Given the description of an element on the screen output the (x, y) to click on. 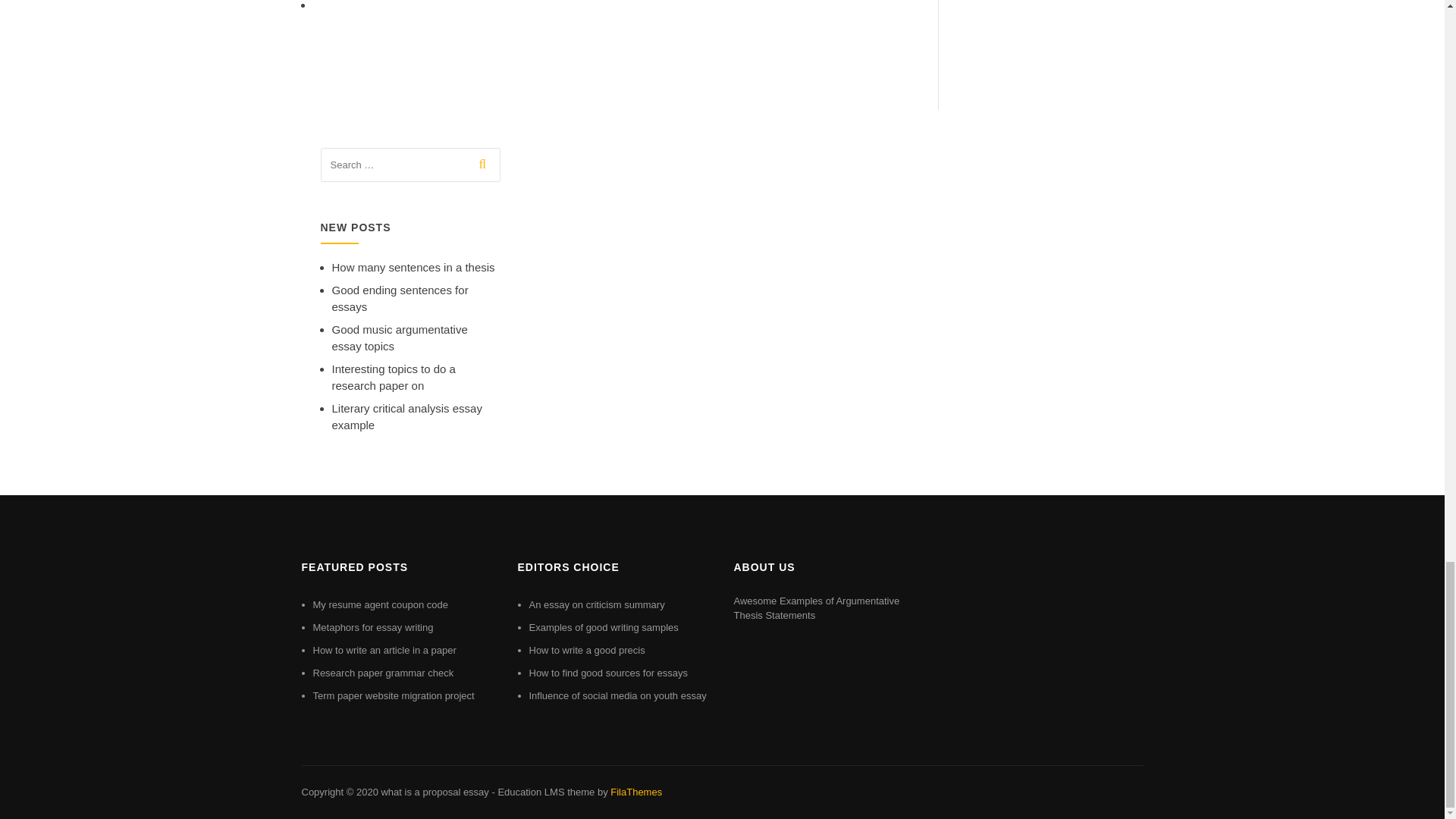
Term paper website migration project (393, 695)
How to write an article in a paper (384, 650)
what is a proposal essay (433, 791)
Research paper grammar check (382, 672)
Good ending sentences for essays (399, 298)
Interesting topics to do a research paper on (393, 377)
How to write a good precis (587, 650)
Influence of social media on youth essay (617, 695)
Examples of good writing samples (603, 627)
An essay on criticism summary (597, 604)
